Given the description of an element on the screen output the (x, y) to click on. 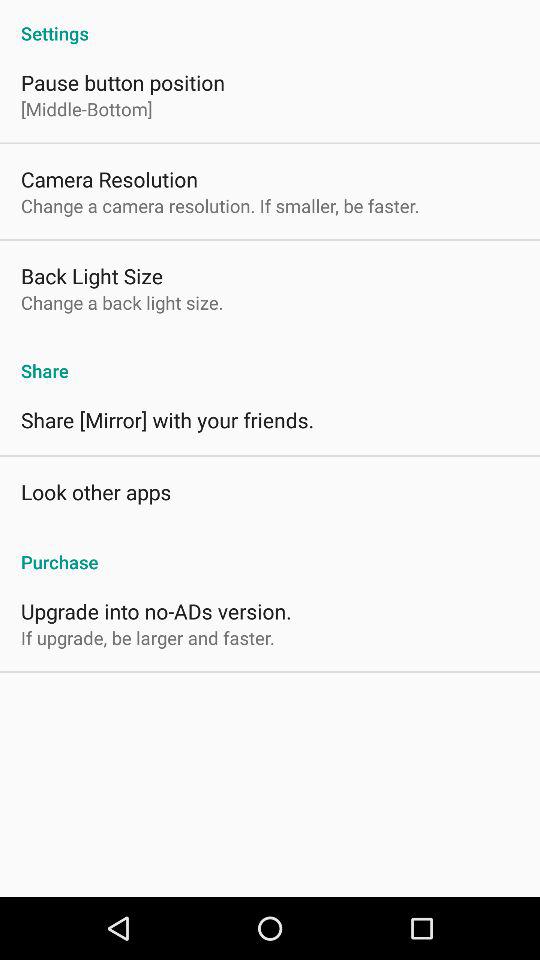
open look other apps (96, 491)
